Given the description of an element on the screen output the (x, y) to click on. 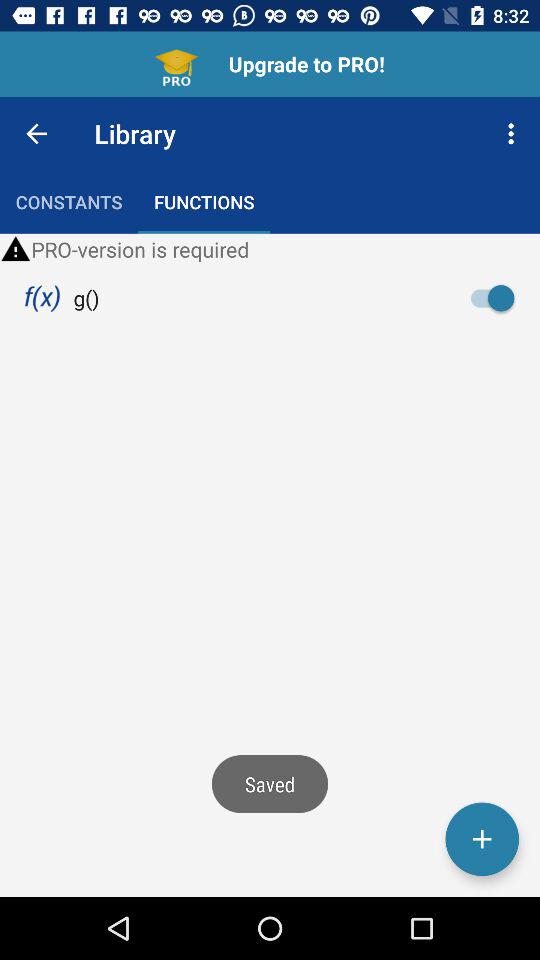
add function (482, 839)
